Given the description of an element on the screen output the (x, y) to click on. 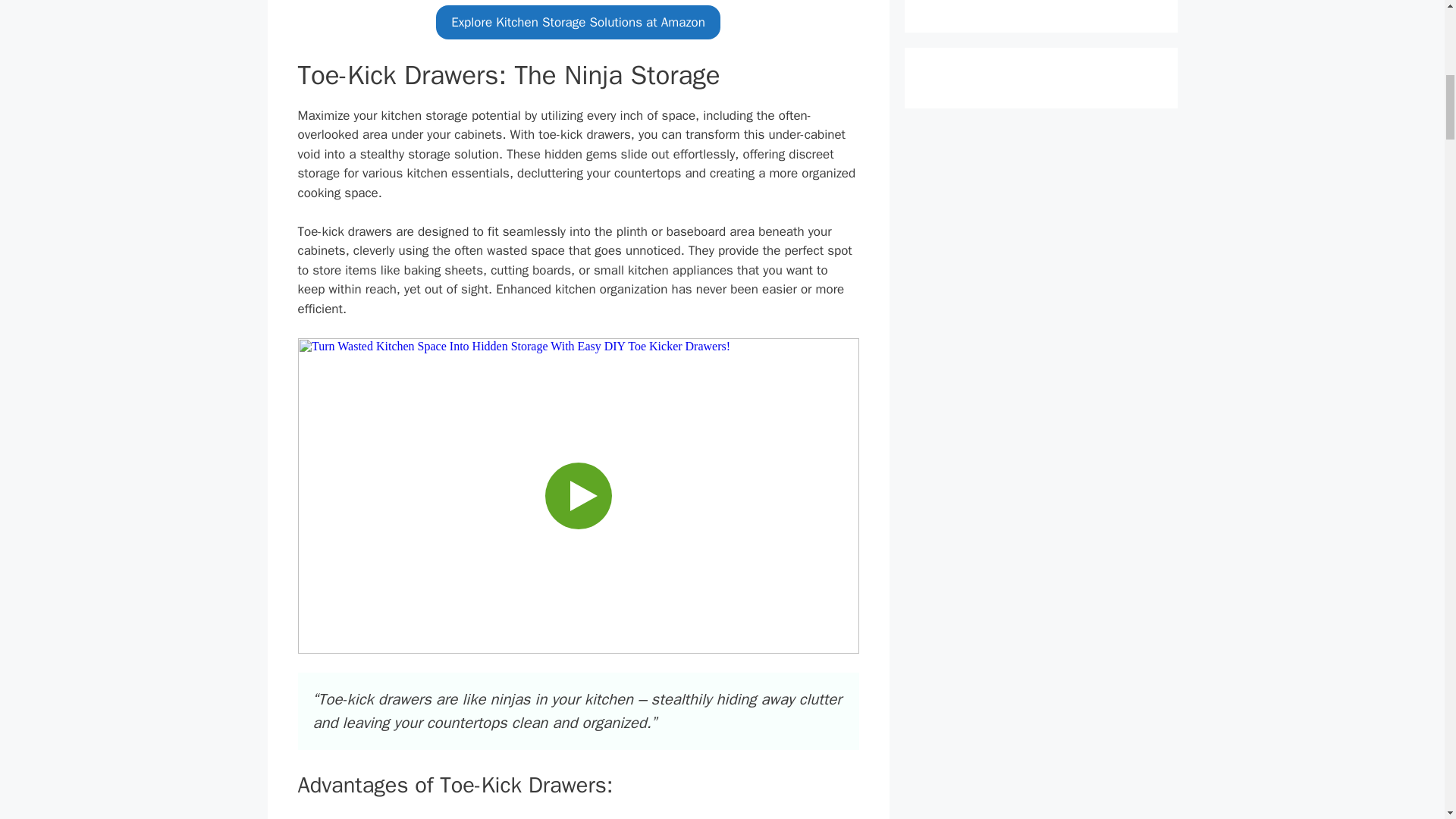
Explore Kitchen Storage Solutions at Amazon (577, 22)
